Given the description of an element on the screen output the (x, y) to click on. 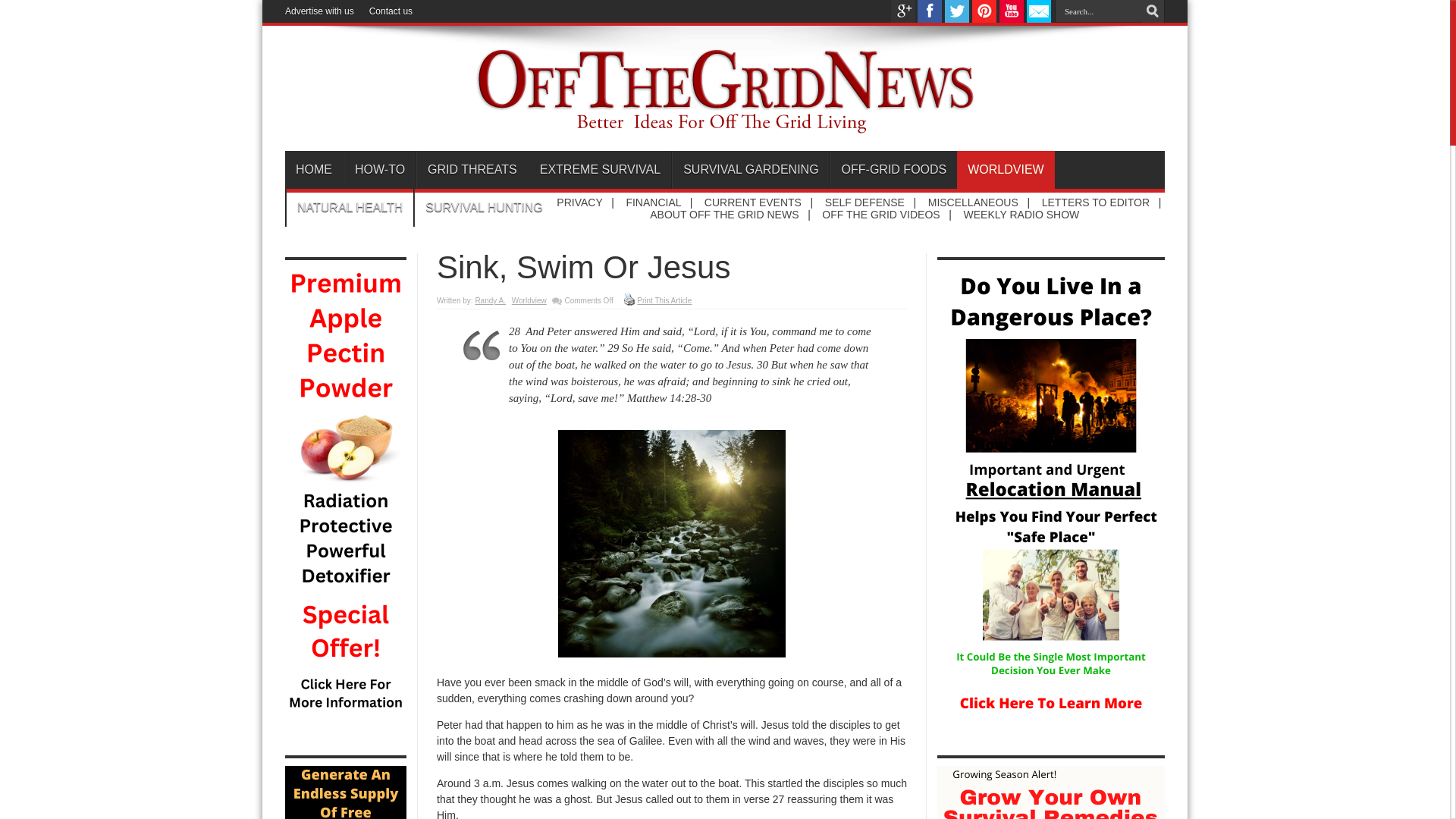
Print This Article (664, 300)
GRID THREATS (471, 169)
Randy A. (489, 300)
LETTERS TO EDITOR (1096, 202)
Search (1152, 11)
HOME (313, 169)
HOW-TO (378, 169)
SURVIVAL GARDENING (749, 169)
SURVIVAL HUNTING (483, 207)
EXTREME SURVIVAL (599, 169)
CURRENT EVENTS (753, 202)
WEEKLY RADIO SHOW (1021, 214)
OFF THE GRID VIDEOS (880, 214)
Worldview (529, 300)
SELF DEFENSE (864, 202)
